Given the description of an element on the screen output the (x, y) to click on. 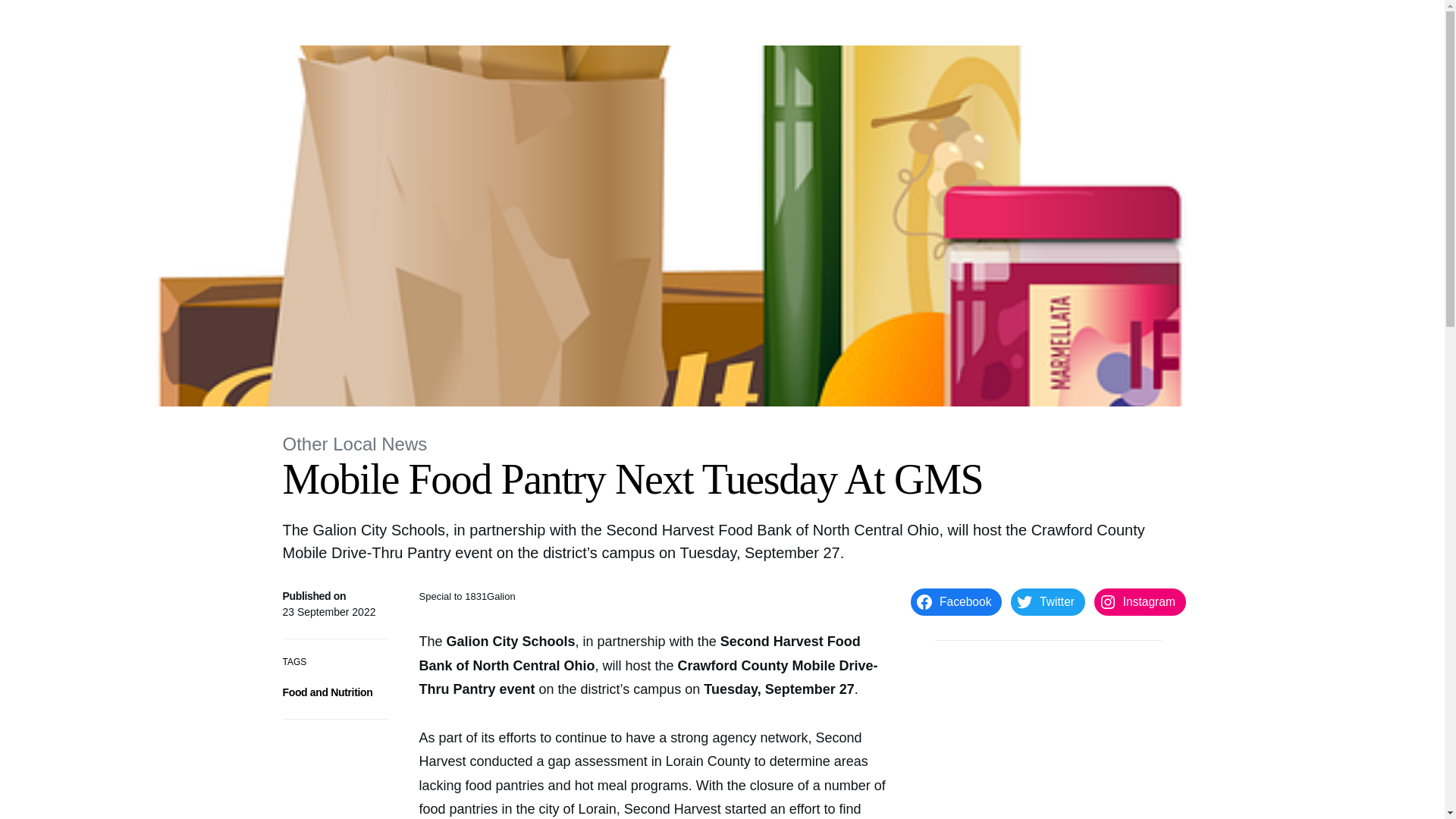
Twitter (1047, 601)
Business (676, 22)
Food and Nutrition (327, 692)
Around Galion (430, 22)
Advertisement (1047, 742)
1831Galion (320, 22)
Schools (619, 22)
Other Local News (354, 444)
Facebook (956, 601)
Instagram (1140, 601)
